Given the description of an element on the screen output the (x, y) to click on. 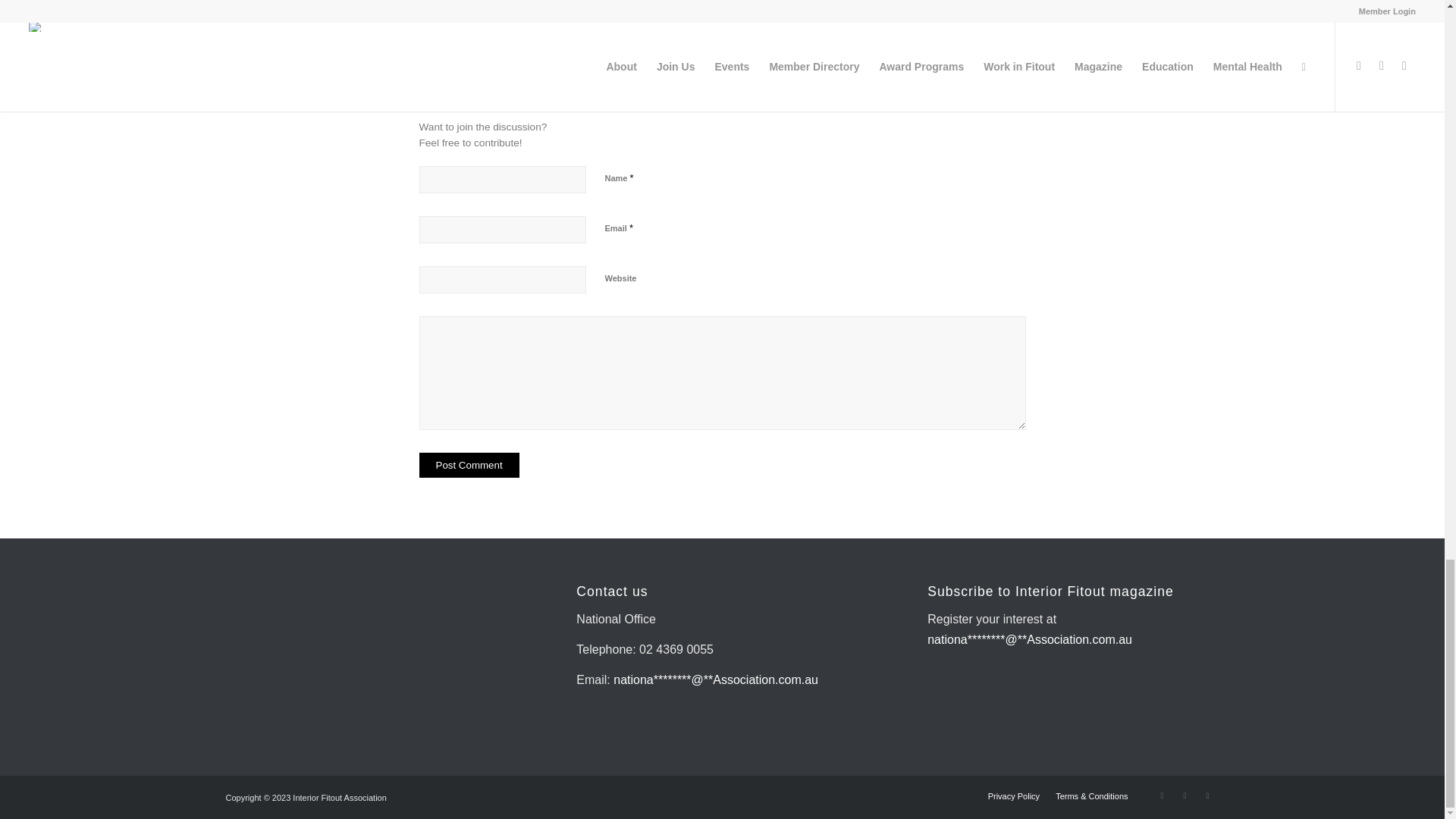
LinkedIn (1208, 794)
Post Comment (468, 464)
Instagram (1162, 794)
Facebook (1184, 794)
